Given the description of an element on the screen output the (x, y) to click on. 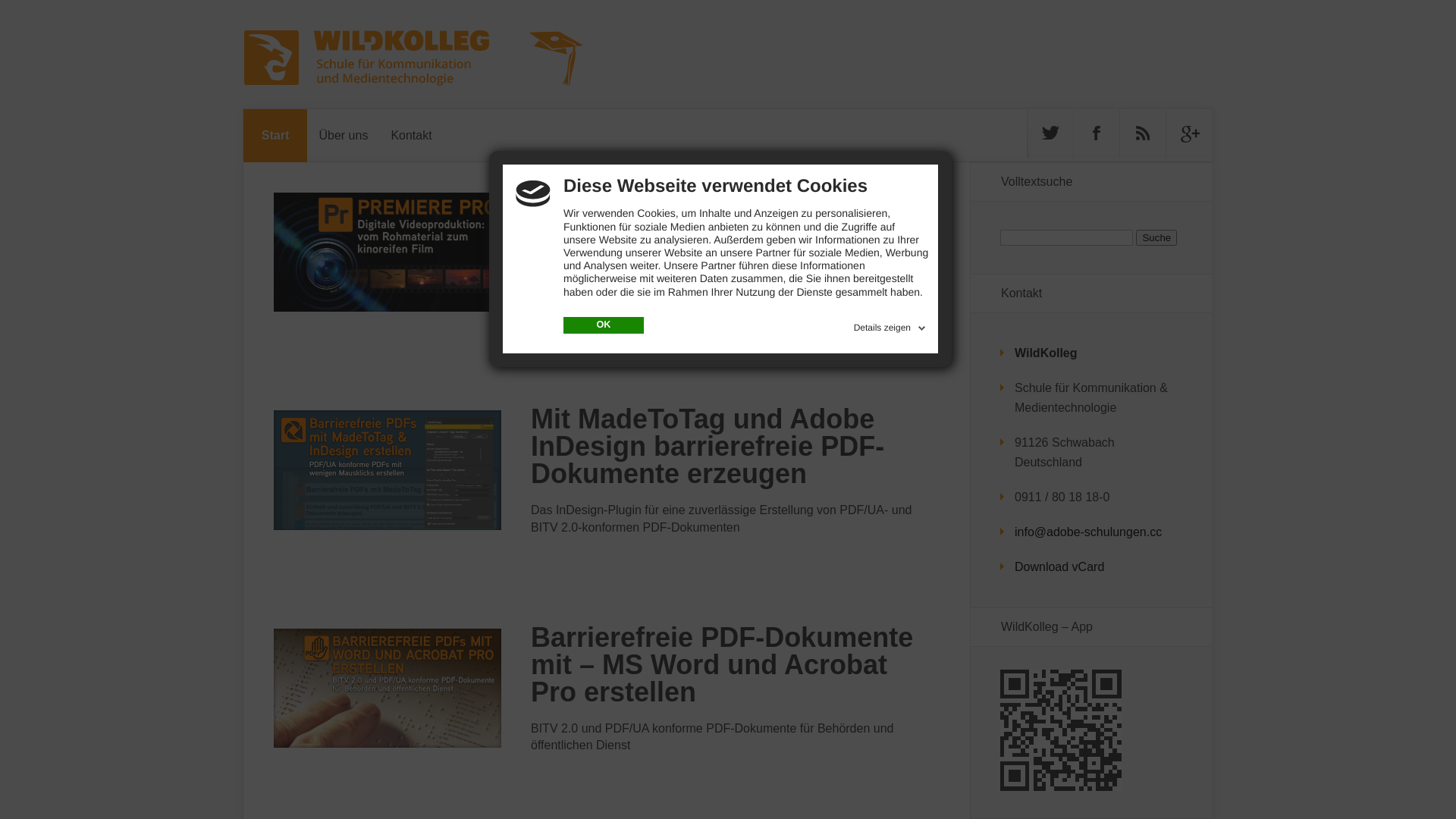
Follow us on Twitter Element type: text (1050, 133)
info@adobe-schulungen.cc Element type: text (1087, 531)
Download vCard Element type: text (1059, 566)
Start Element type: text (275, 135)
Suche Element type: text (1155, 237)
Kontakt Element type: text (410, 135)
Follow Us On Google+ Element type: text (1188, 133)
Follow us on Facebook Element type: text (1096, 133)
OK Element type: text (603, 324)
Details zeigen Element type: text (890, 324)
Subscribe To Rss Feed Element type: text (1142, 133)
WildKolleg App Element type: hover (1060, 786)
